Given the description of an element on the screen output the (x, y) to click on. 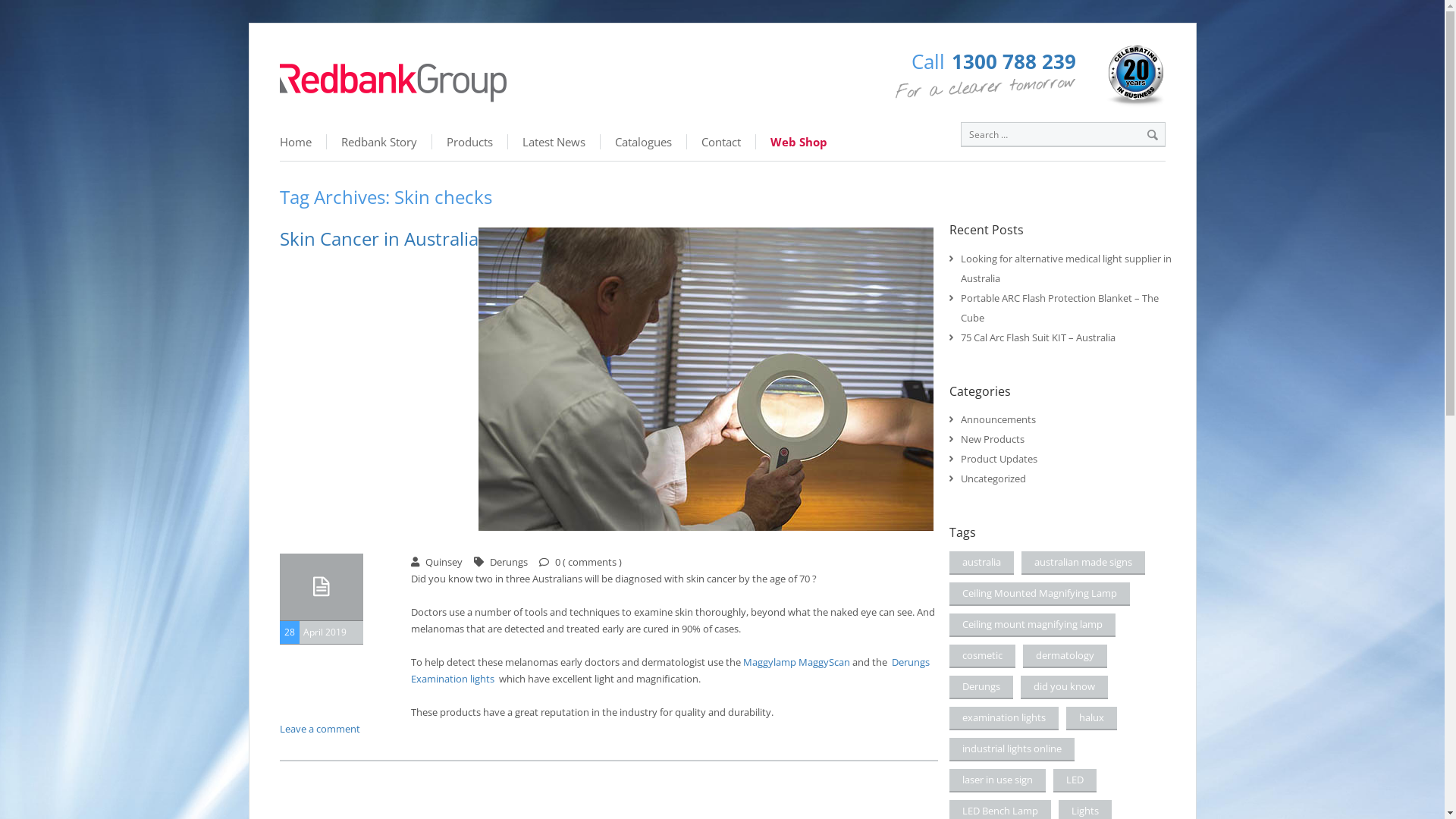
australia Element type: text (981, 562)
Derungs Element type: text (981, 687)
Ceiling Mounted Magnifying Lamp Element type: text (1039, 593)
Latest News Element type: text (554, 141)
cosmetic Element type: text (982, 656)
Products Element type: text (470, 141)
Catalogues Element type: text (643, 141)
Leave a comment Element type: text (319, 728)
New Products Element type: text (992, 438)
Derungs Examination lights Element type: text (670, 670)
Search Element type: text (1151, 134)
Skin Cancer in Australia Element type: text (378, 238)
dermatology Element type: text (1064, 656)
Maggylamp MaggyScan Element type: text (796, 661)
Announcements Element type: text (997, 419)
LED Element type: text (1074, 780)
Ceiling mount magnifying lamp Element type: text (1032, 625)
industrial lights online Element type: text (1011, 749)
Web Shop Element type: text (797, 141)
laser in use sign Element type: text (997, 780)
examination lights Element type: text (1003, 718)
Redbank Story Element type: text (378, 141)
Uncategorized Element type: text (993, 478)
Contact Element type: text (721, 141)
1300 788 239 Element type: text (1013, 61)
Product Updates Element type: text (998, 458)
did you know Element type: text (1063, 687)
Looking for alternative medical light supplier in Australia Element type: text (1065, 268)
halux Element type: text (1091, 718)
Home Element type: text (302, 141)
australian made signs Element type: text (1083, 562)
